Given the description of an element on the screen output the (x, y) to click on. 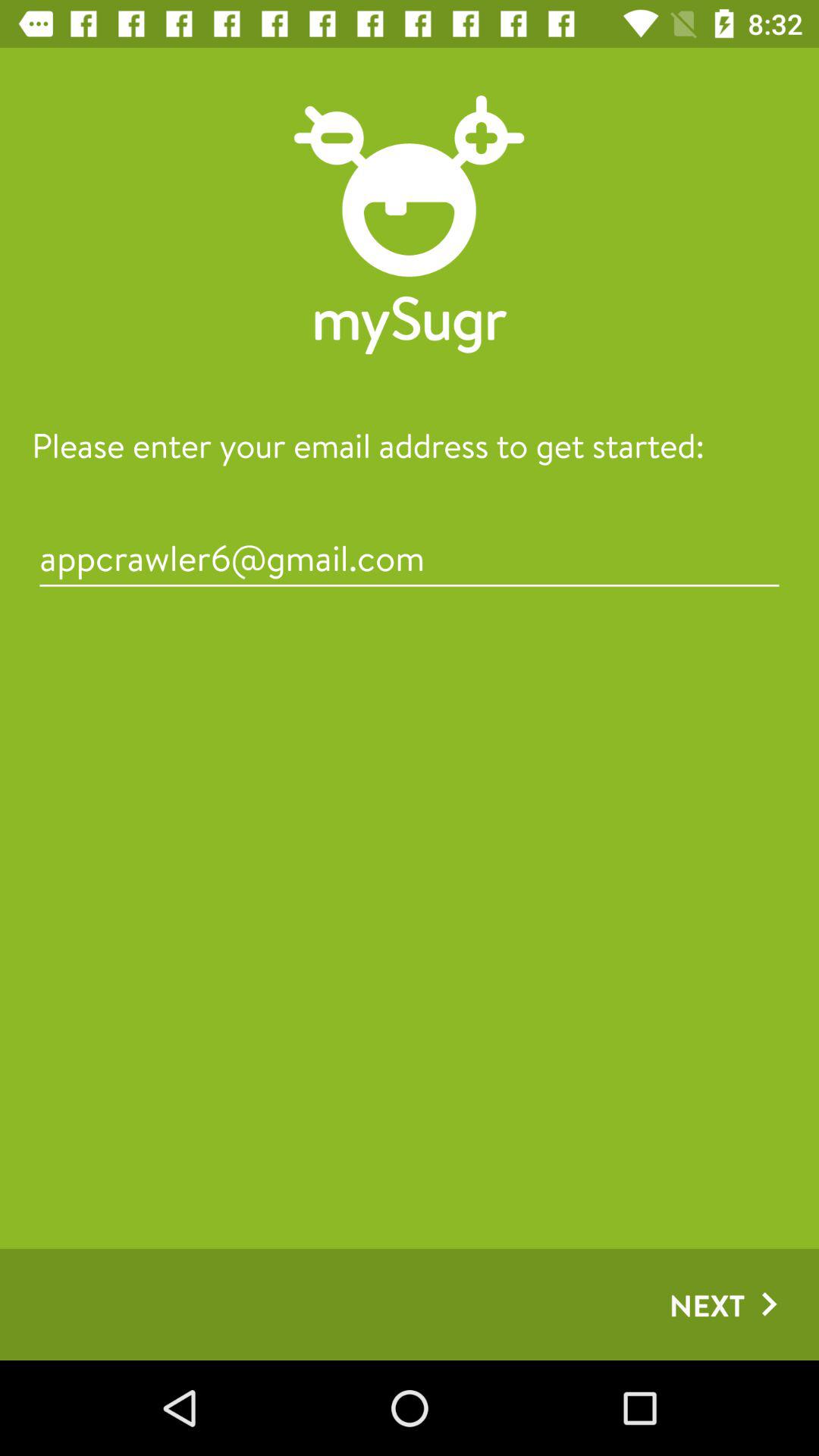
turn on the icon at the center (409, 557)
